Given the description of an element on the screen output the (x, y) to click on. 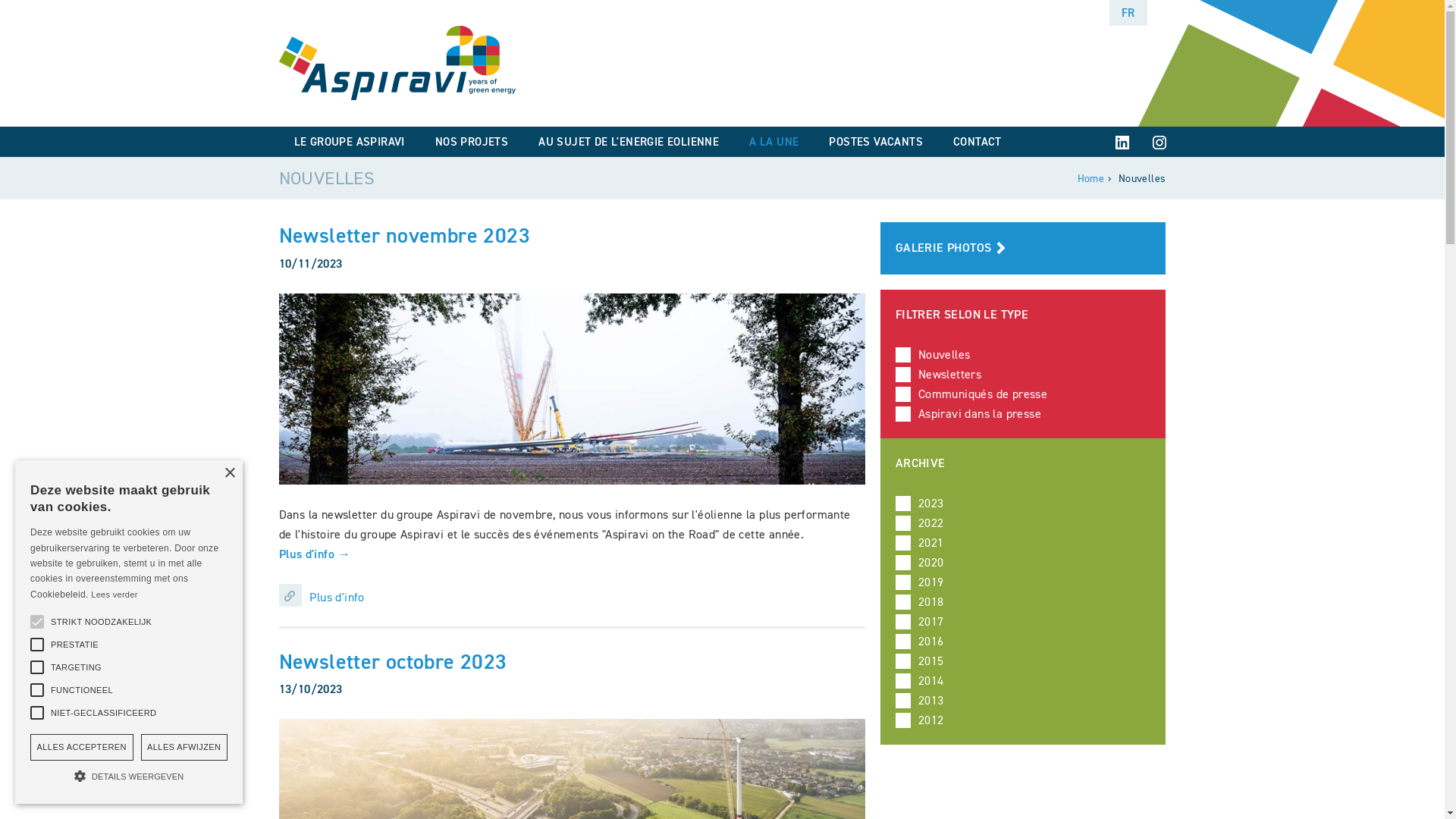
Newsletter octobre 2023 Element type: text (393, 660)
LE GROUPE ASPIRAVI Element type: text (349, 141)
POSTES VACANTS Element type: text (875, 141)
Home Element type: text (1090, 178)
A LA UNE Element type: text (773, 141)
Plus d'info Element type: text (572, 594)
Lees verder Element type: text (114, 594)
CONTACT Element type: text (977, 141)
Plus d'info Element type: text (315, 553)
GALERIE PHOTOS Element type: text (1023, 248)
NOS PROJETS Element type: text (471, 141)
FR Element type: text (1127, 12)
Newsletter novembre 2023 Element type: text (404, 234)
AU SUJET DE L'ENERGIE EOLIENNE Element type: text (628, 141)
